Given the description of an element on the screen output the (x, y) to click on. 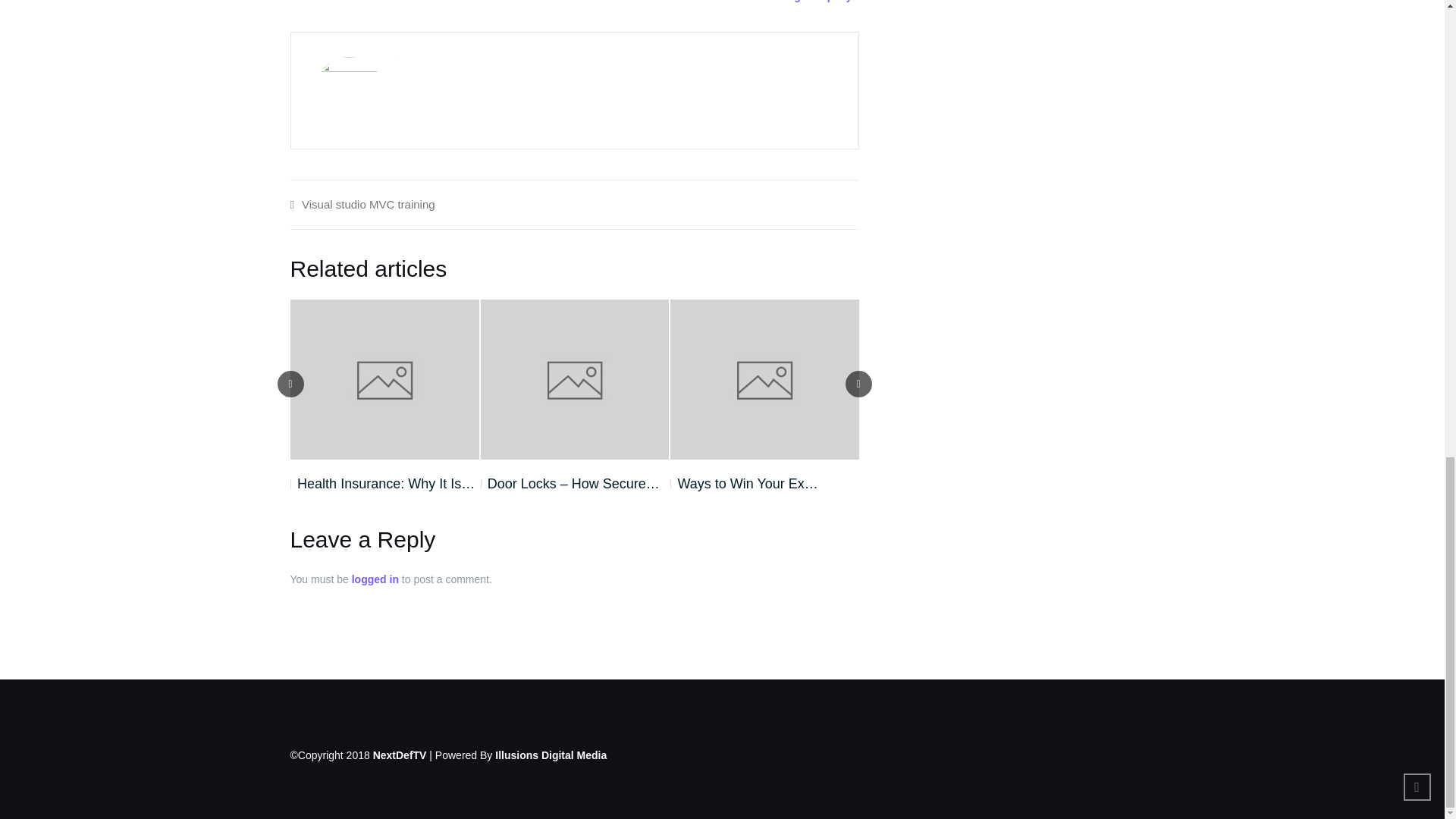
Visual studio MVC training (368, 204)
